Given the description of an element on the screen output the (x, y) to click on. 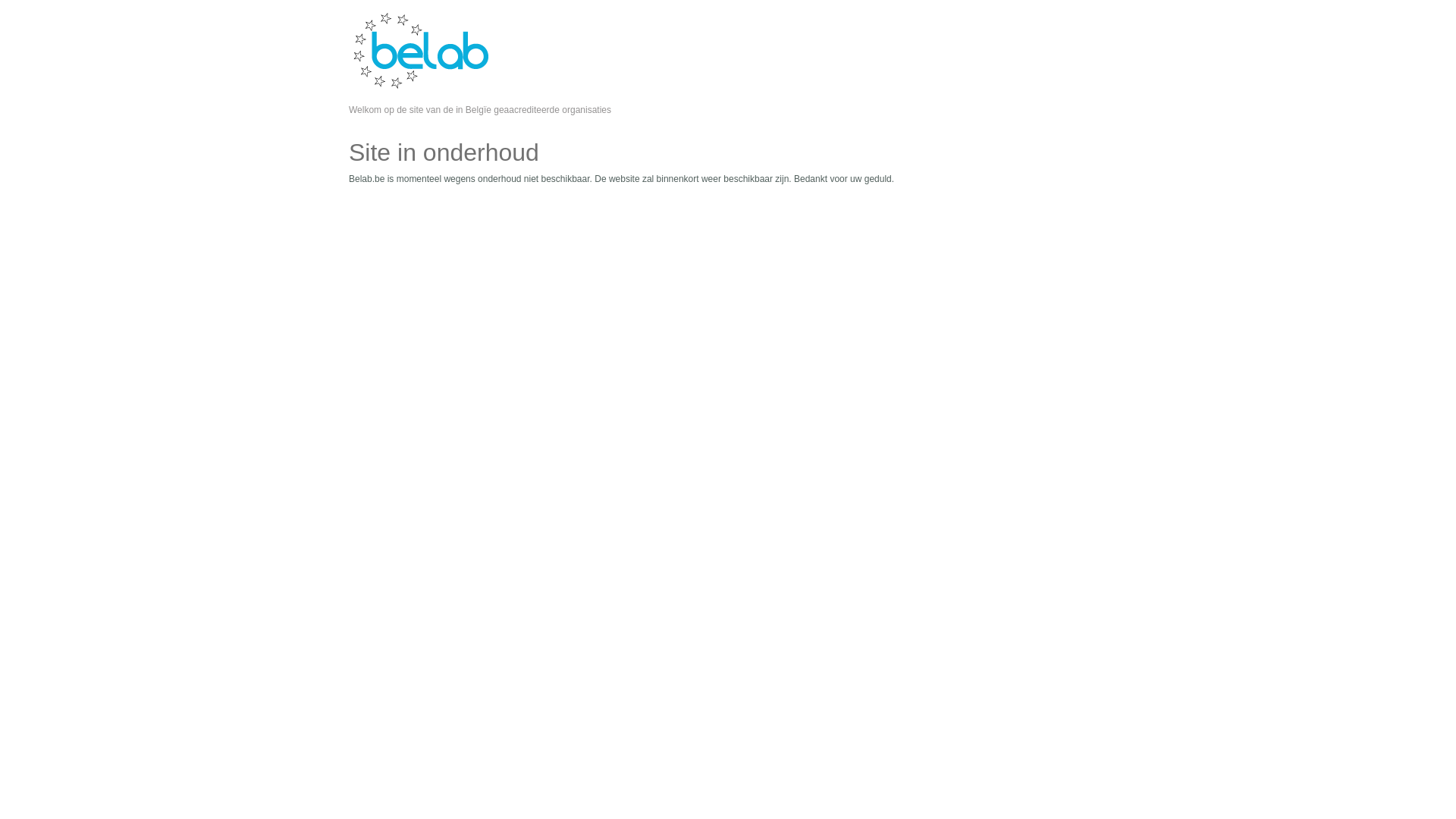
Home Element type: hover (420, 86)
